Given the description of an element on the screen output the (x, y) to click on. 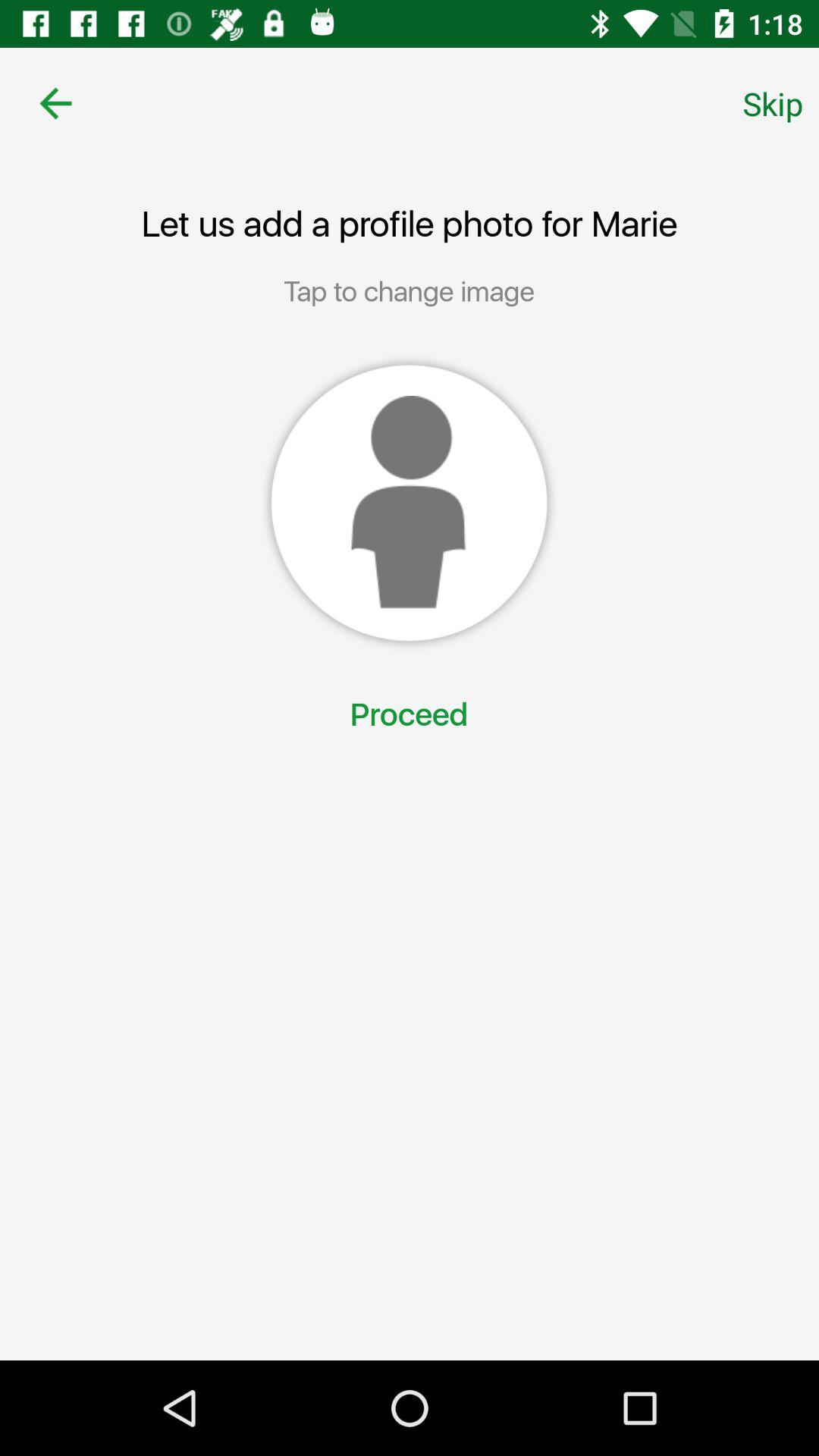
click on the image (408, 502)
